Given the description of an element on the screen output the (x, y) to click on. 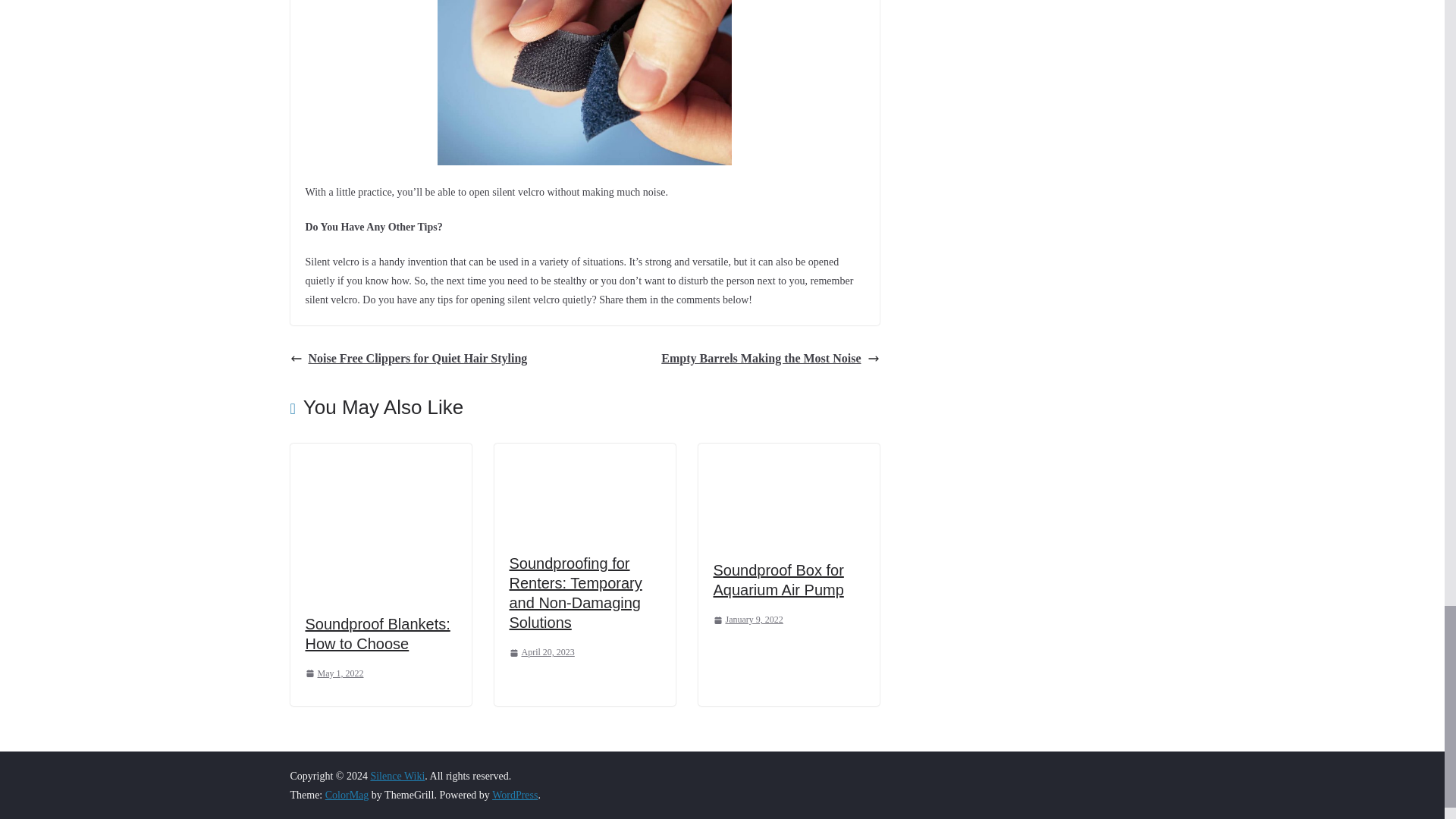
12:36 pm (333, 673)
2:14 pm (542, 652)
Noise Free Clippers for Quiet Hair Styling (408, 359)
Soundproof Blankets: How to Choose (376, 633)
May 1, 2022 (333, 673)
Soundproof Box for Aquarium Air Pump (778, 579)
Soundproof Box for Aquarium Air Pump (788, 453)
Soundproof Blankets: How to Choose (376, 633)
Soundproof Box for Aquarium Air Pump (778, 579)
January 9, 2022 (748, 619)
Soundproof Blankets: How to Choose (379, 453)
April 20, 2023 (542, 652)
